Given the description of an element on the screen output the (x, y) to click on. 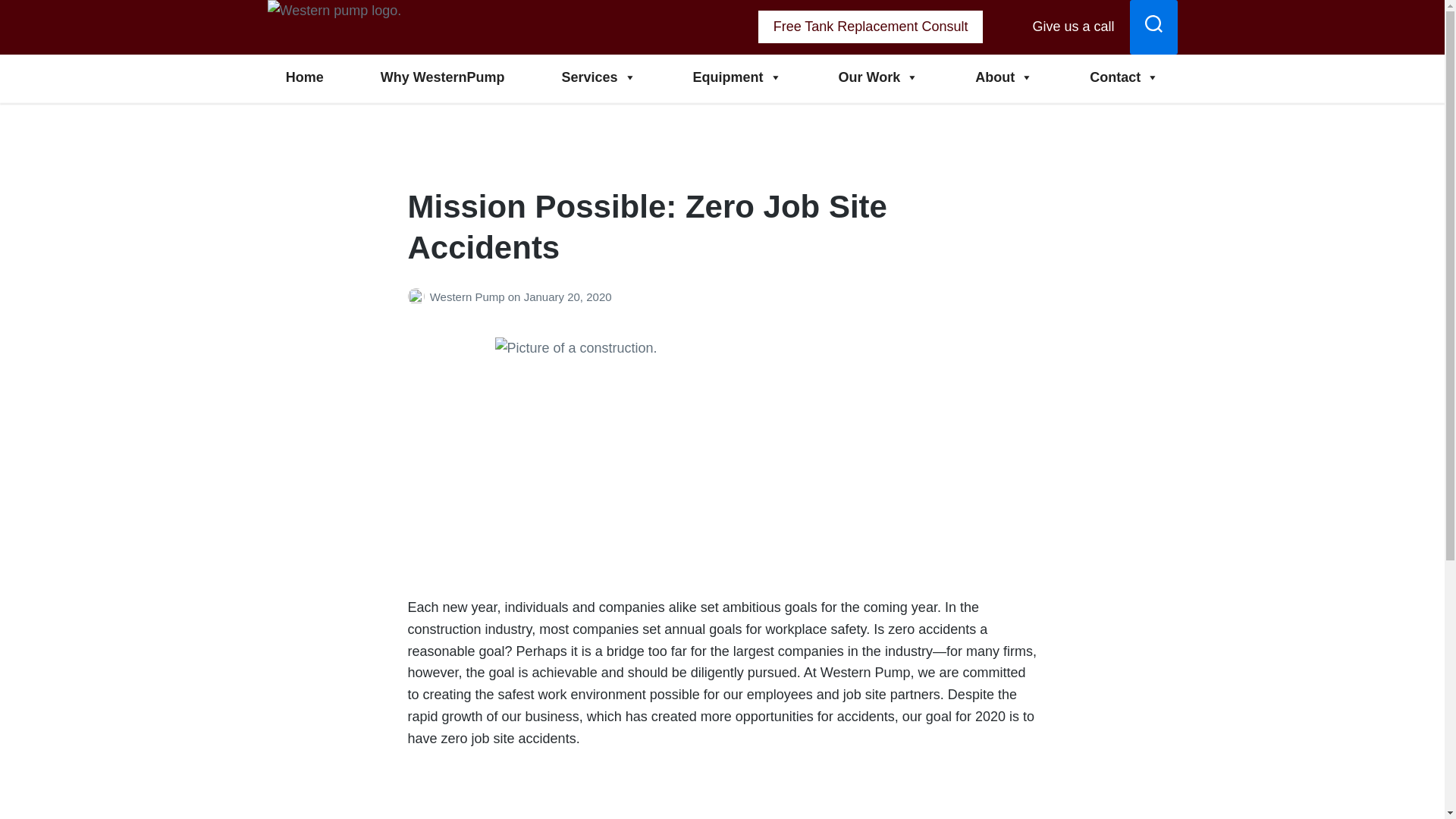
Western Pump (335, 65)
About (1003, 77)
Give us a call (1061, 26)
Services (597, 77)
Our Work (878, 77)
Equipment (737, 77)
Posts by Western Pump (418, 296)
Free Tank Replacement Consult (871, 26)
Home (304, 77)
Why WesternPump (442, 77)
